Given the description of an element on the screen output the (x, y) to click on. 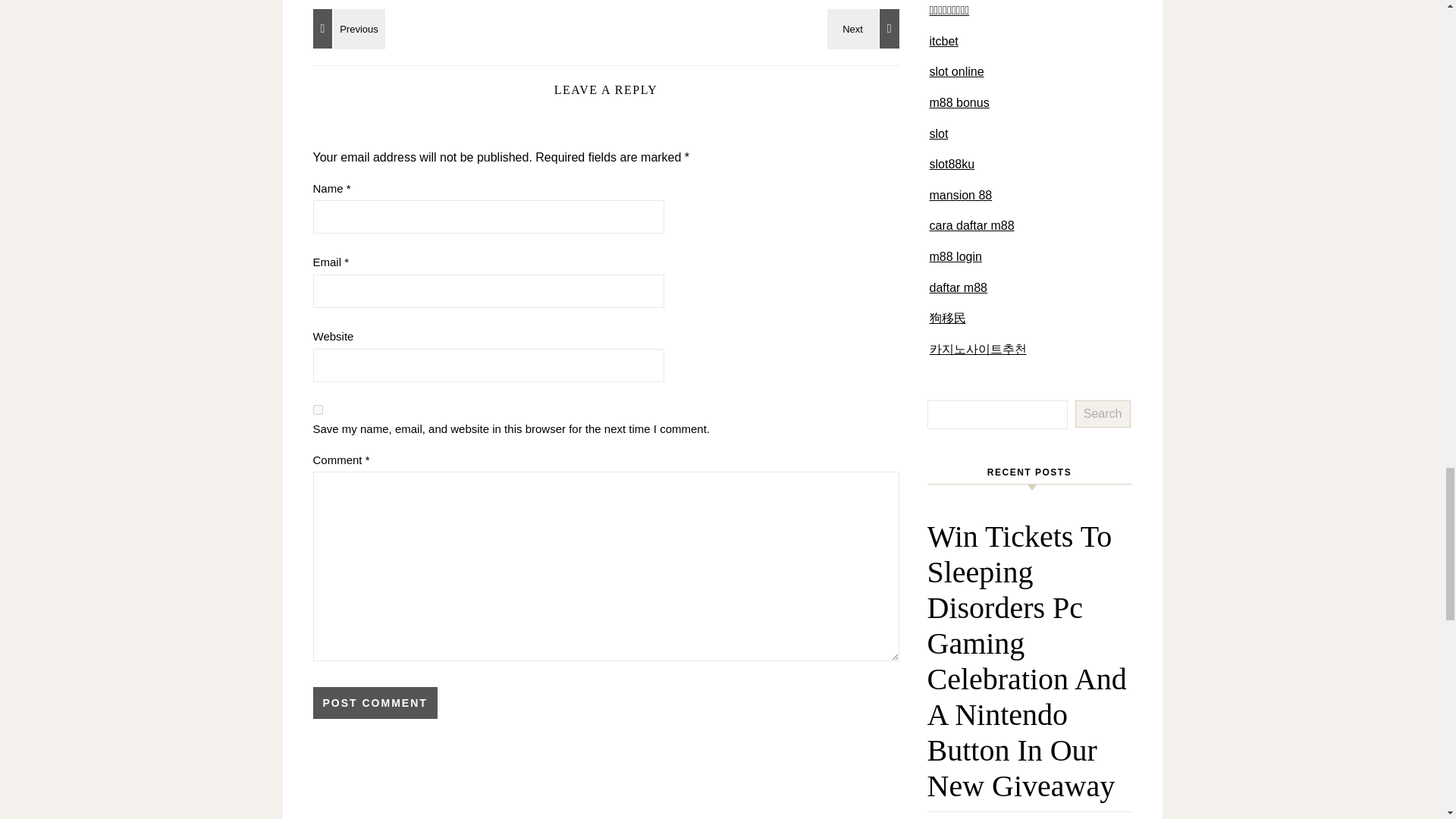
Post Comment (374, 703)
Post Comment (374, 703)
m88 bonus (960, 102)
yes (317, 409)
